Given the description of an element on the screen output the (x, y) to click on. 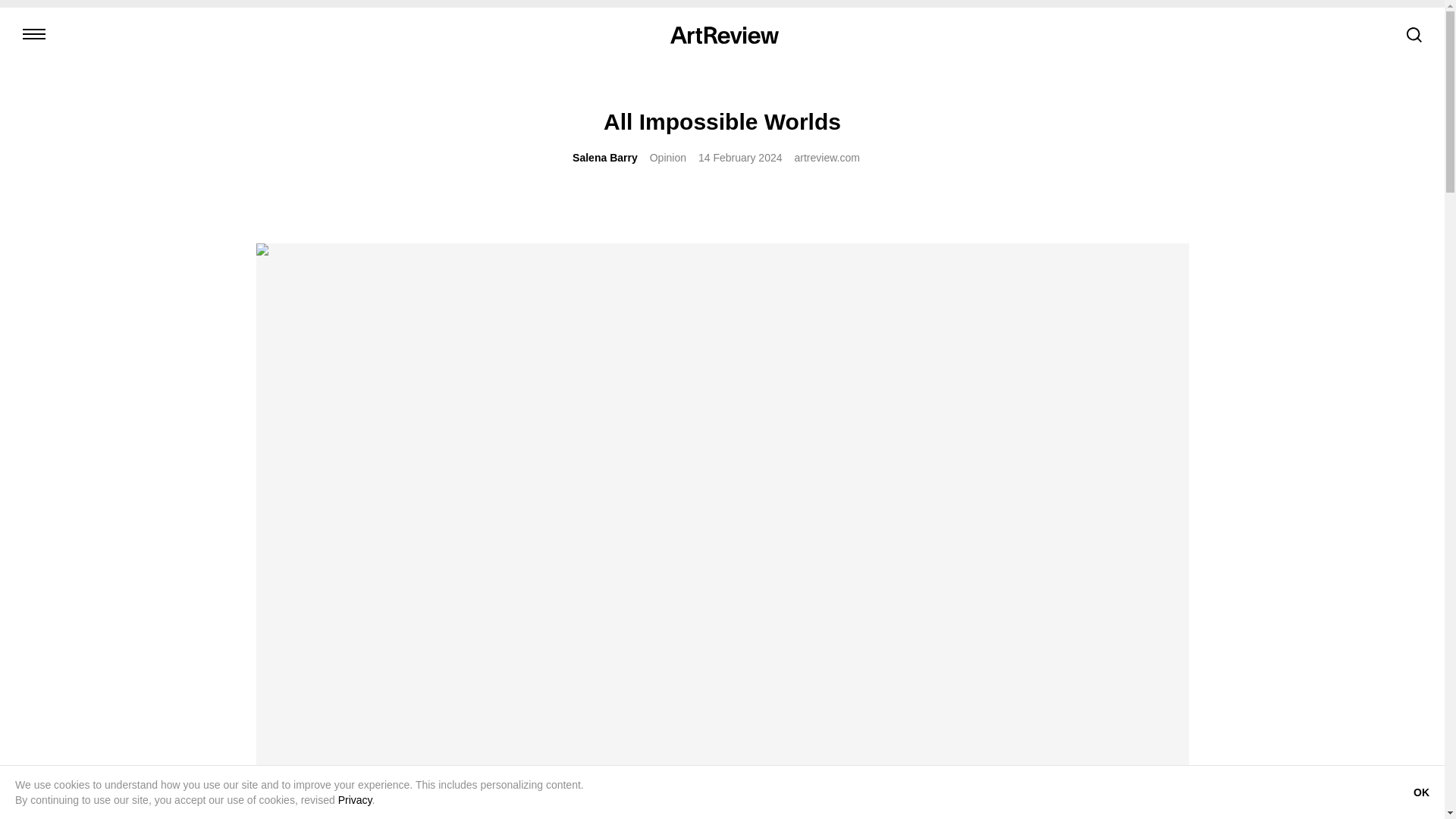
Opinion (667, 157)
Salena Barry (604, 157)
